Given the description of an element on the screen output the (x, y) to click on. 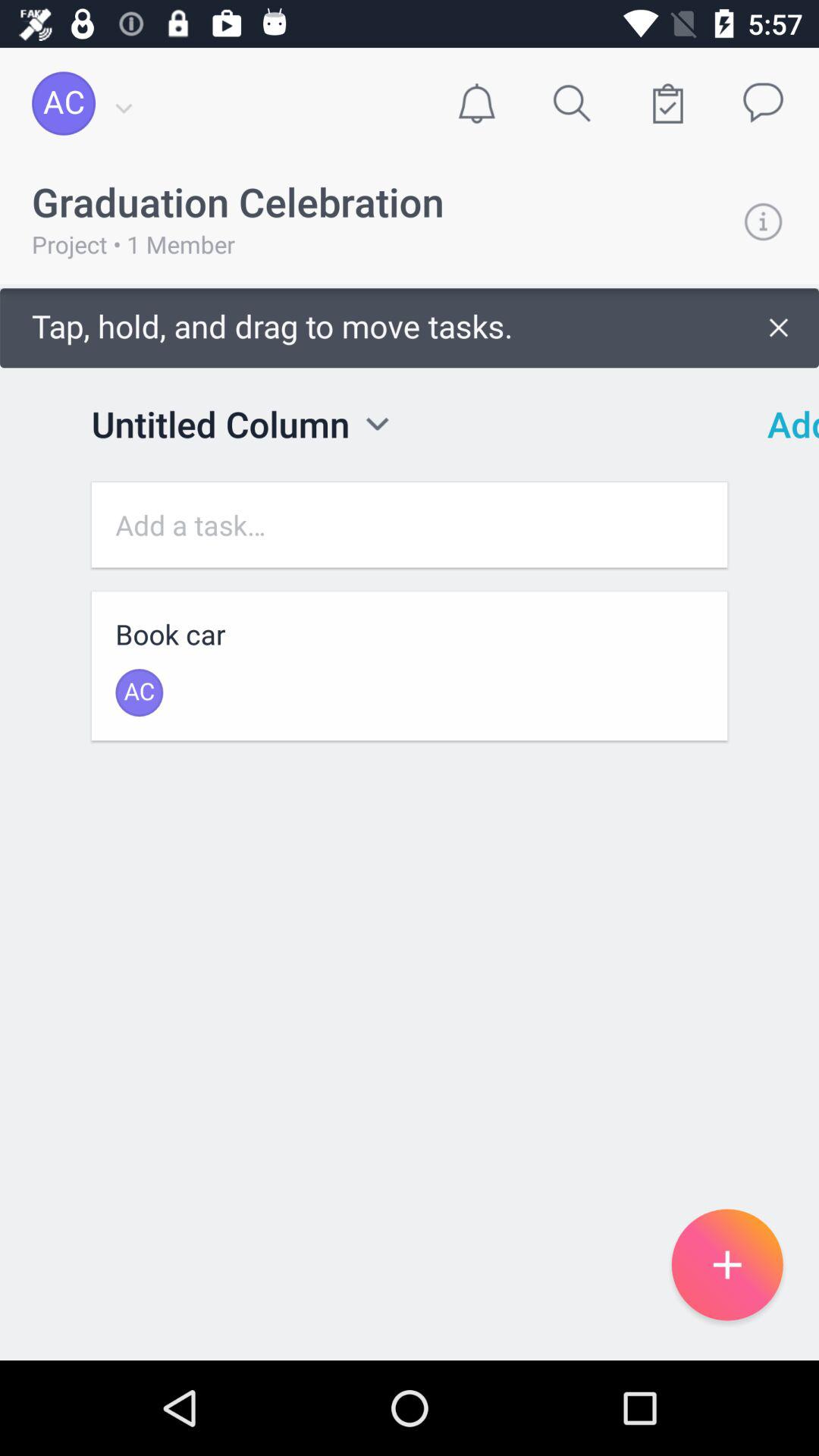
click the item above the graduation celebration (476, 103)
